Given the description of an element on the screen output the (x, y) to click on. 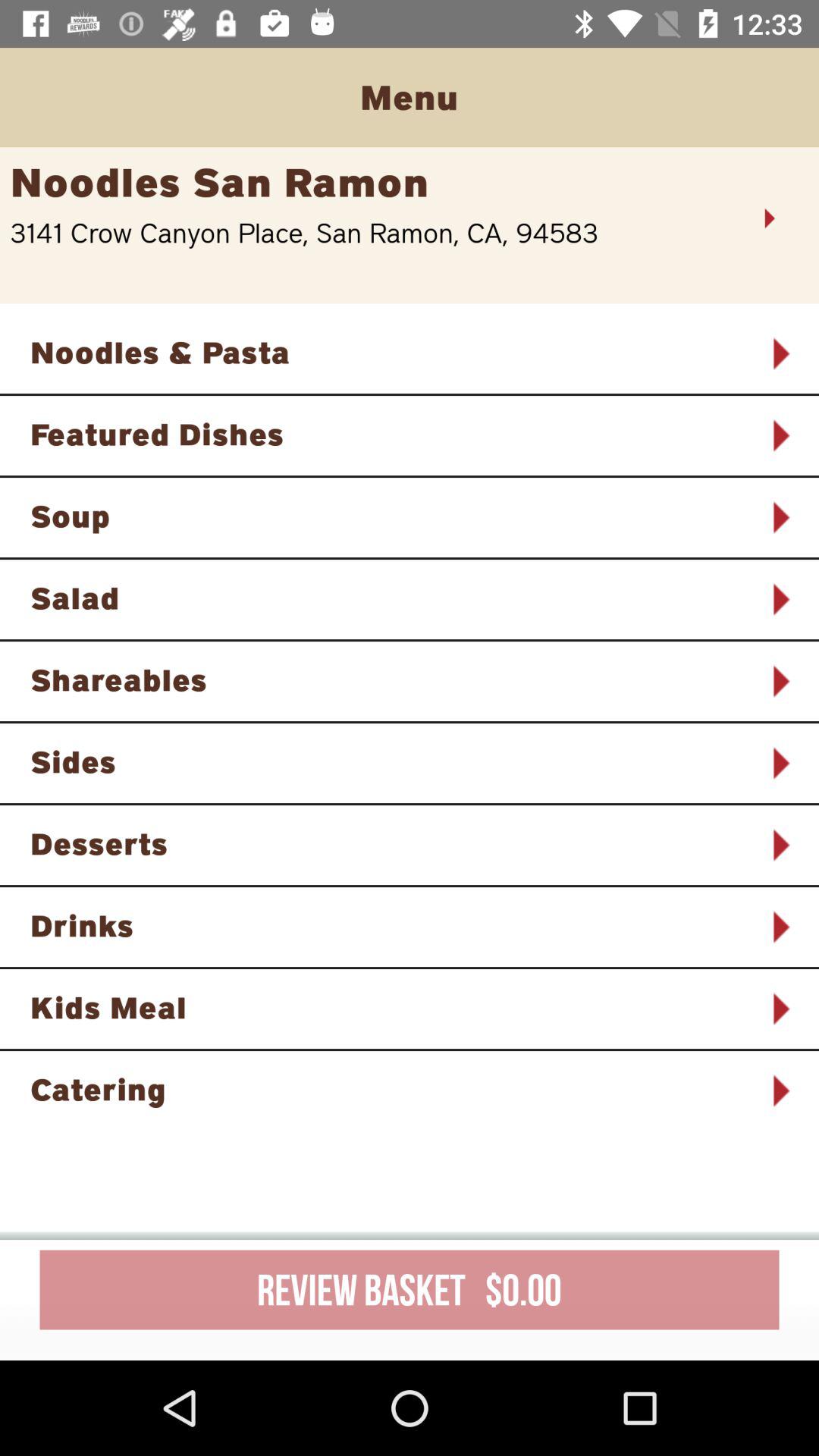
tap icon next to the soup (779, 517)
